Given the description of an element on the screen output the (x, y) to click on. 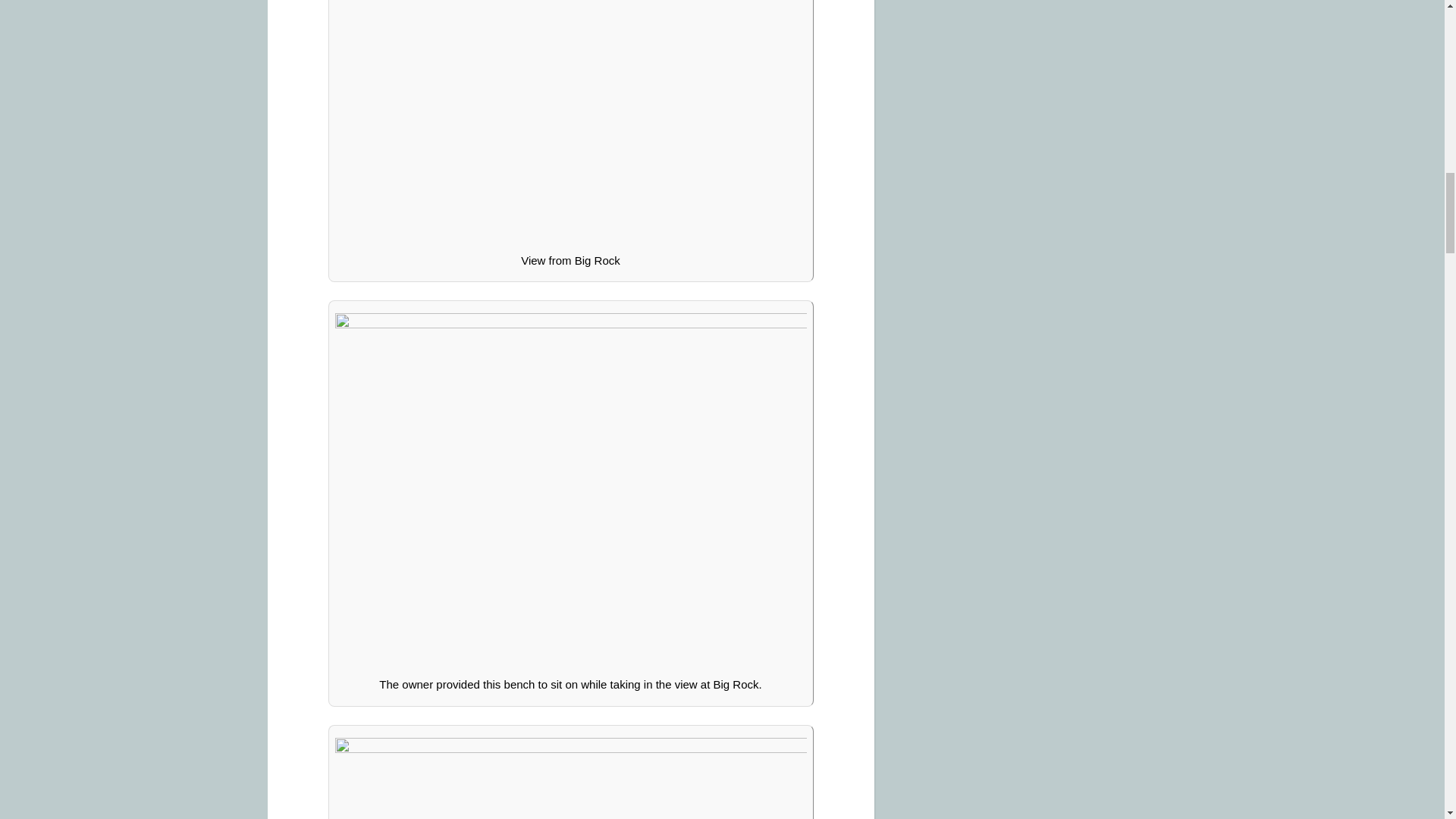
View from Big Rock (570, 121)
View from Big Rock (570, 778)
